Given the description of an element on the screen output the (x, y) to click on. 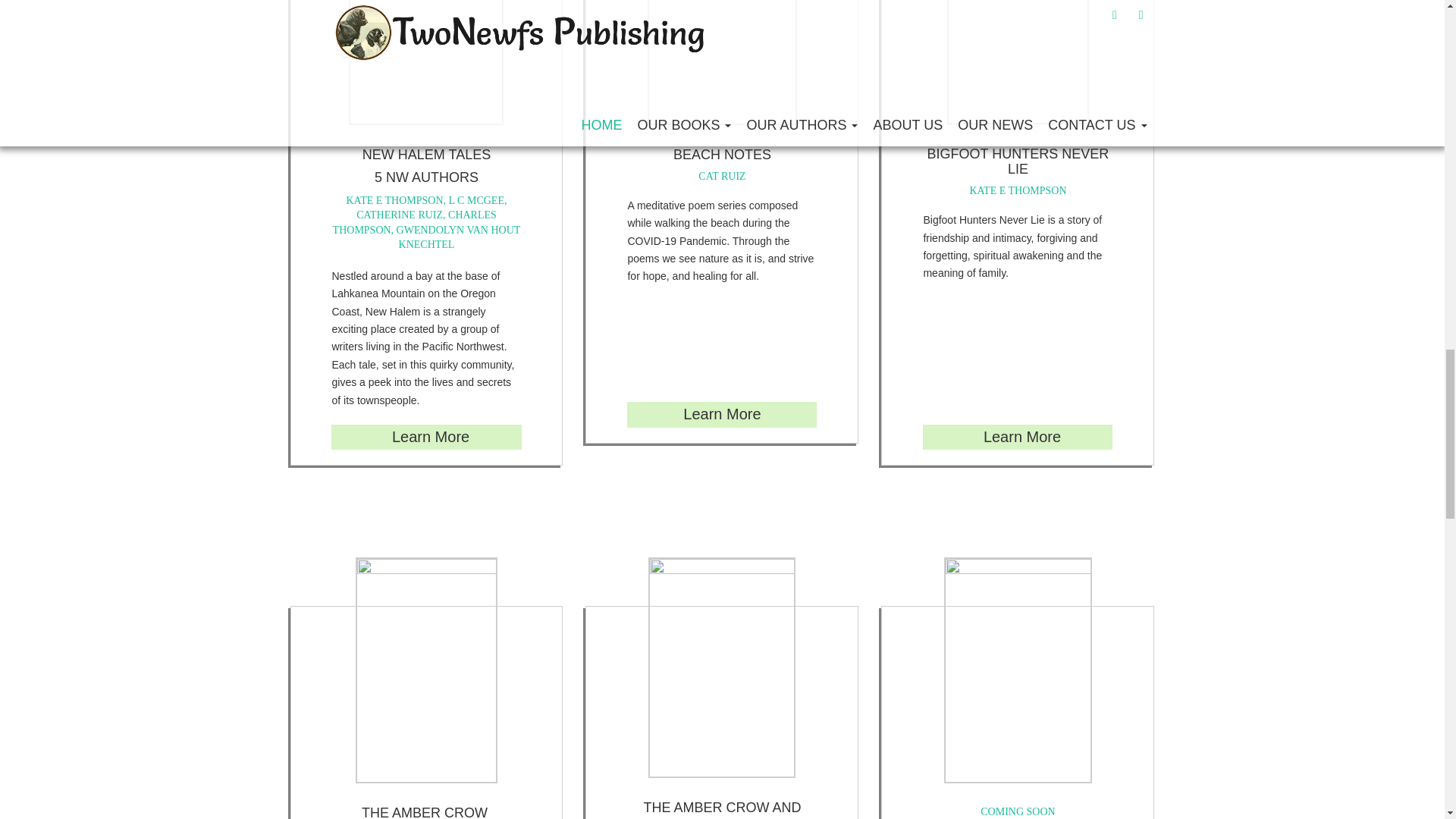
Learn More (1022, 436)
Learn More (427, 436)
Learn More (721, 413)
